Given the description of an element on the screen output the (x, y) to click on. 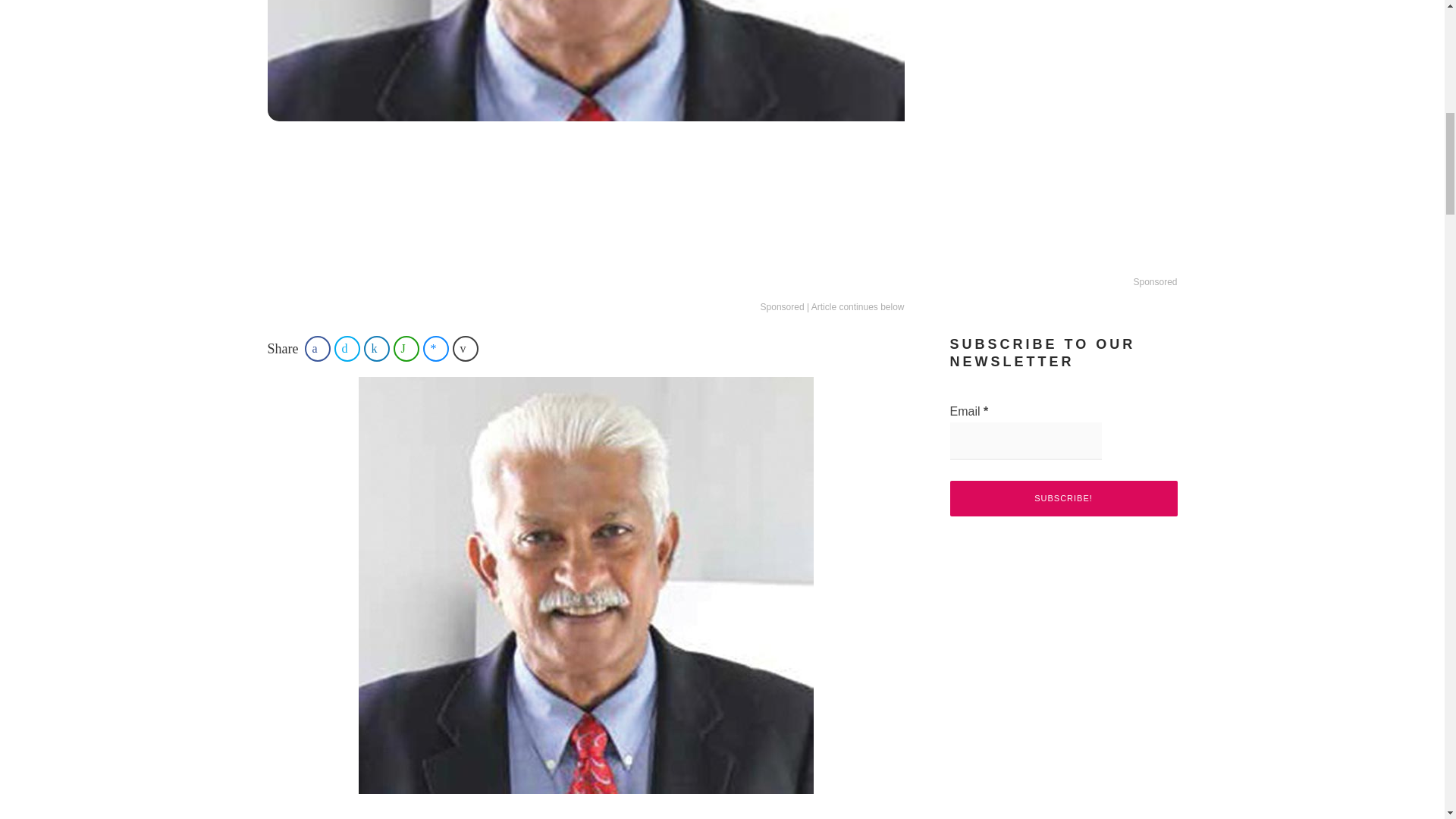
Share on Facebook (317, 348)
Share on WhatsApp (406, 348)
Share on Twitter (346, 348)
Share on Facebook Messenger (435, 348)
Subscribe! (1062, 498)
Share on Email (465, 348)
Share on LinkedIn (377, 348)
Email (1024, 440)
